Given the description of an element on the screen output the (x, y) to click on. 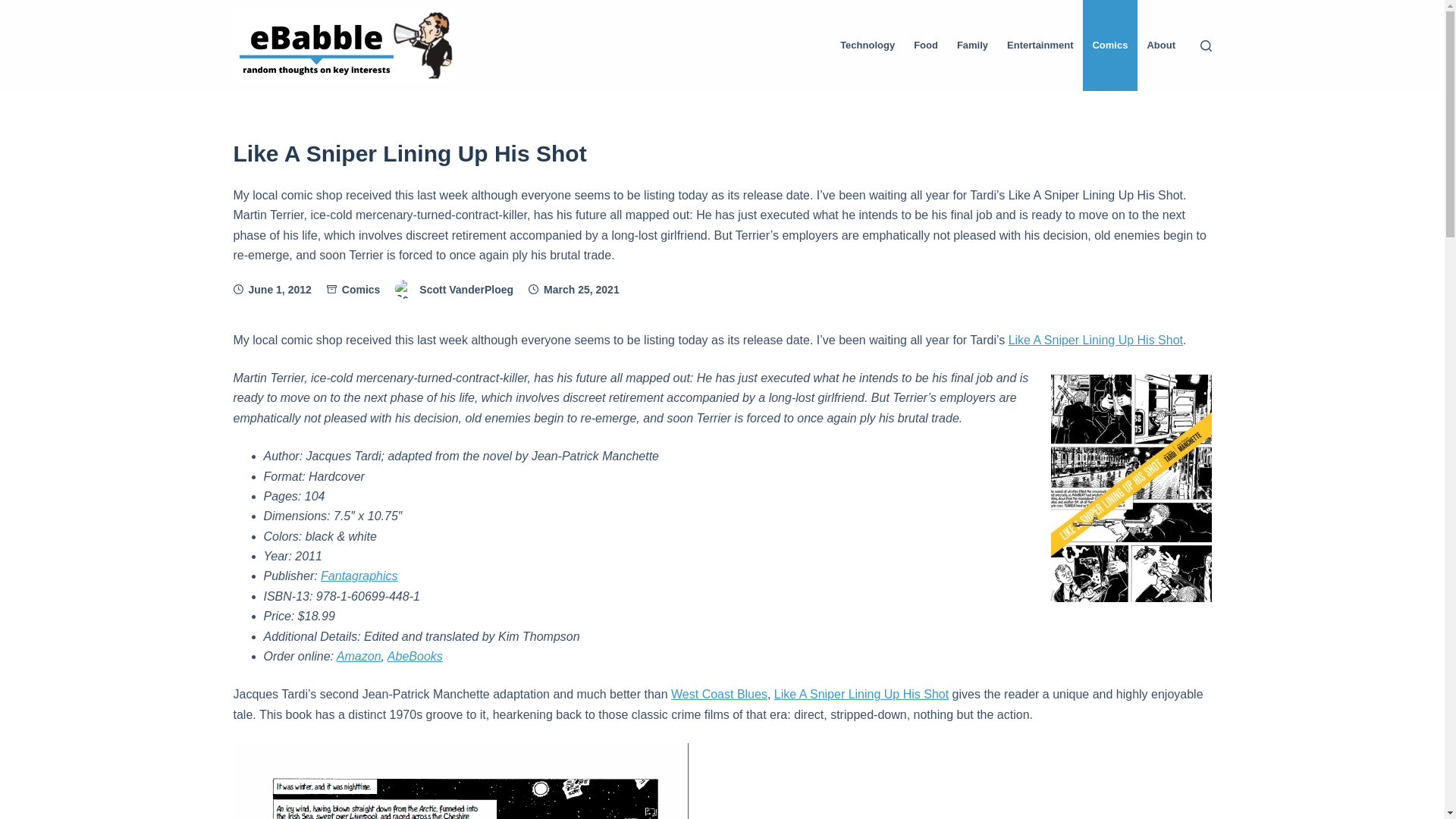
Entertainment (1040, 45)
West Coast Blues (719, 694)
Amazon (358, 656)
Technology (867, 45)
About (1161, 45)
Family (972, 45)
Comics (361, 289)
Fantagraphics (358, 575)
Like-A-Sniper-Lining-Up-His-Shot-Page-1 (460, 780)
Like A Sniper Lining Up His Shot (861, 694)
Food (925, 45)
Like A Sniper Lining Up His Shot (1095, 339)
AbeBooks (414, 656)
Like A Sniper Lining Up His Shot (721, 153)
Posts by Scott VanderPloeg (466, 289)
